Given the description of an element on the screen output the (x, y) to click on. 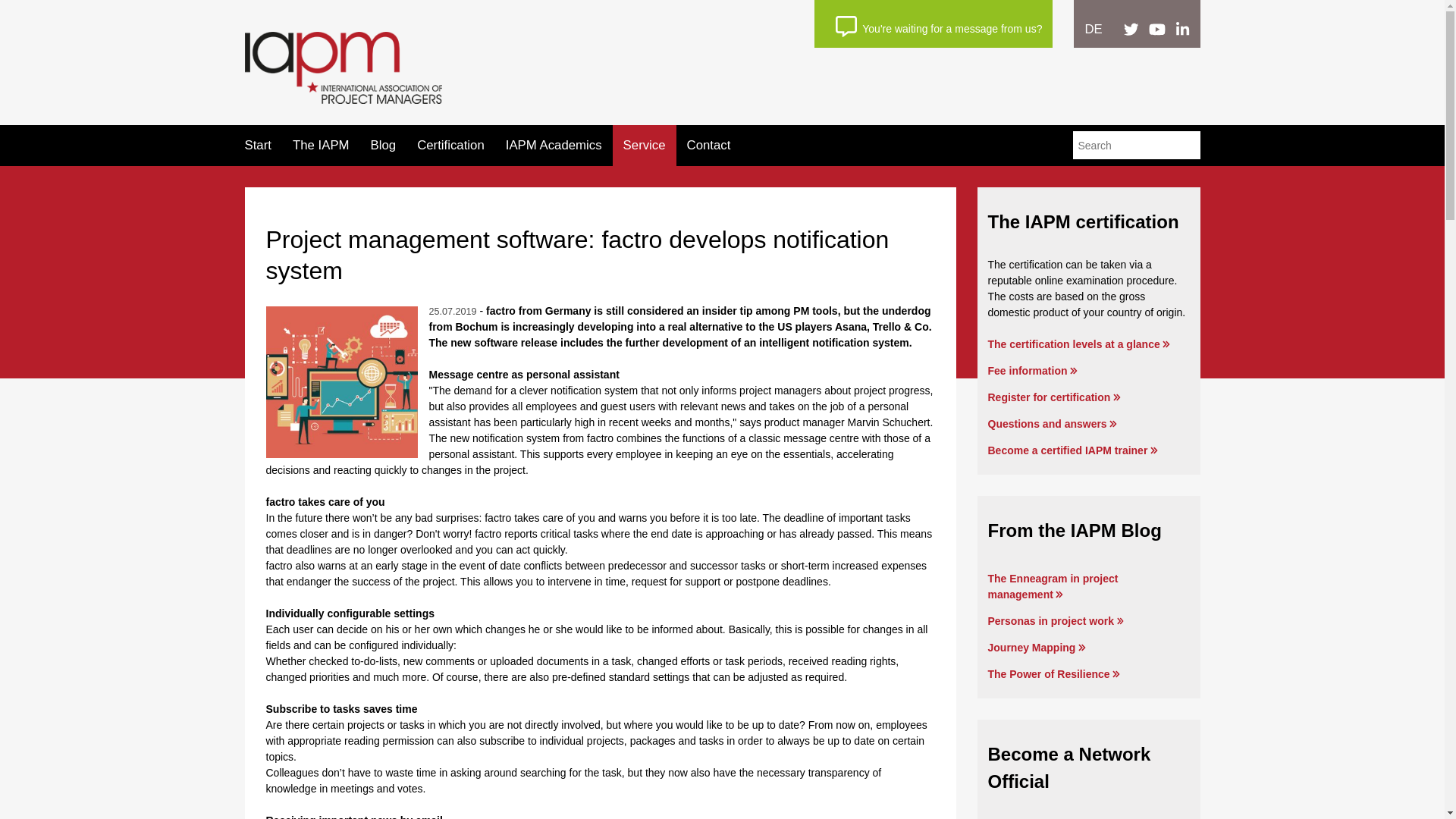
DE (1093, 29)
Certification (450, 145)
Blog (383, 145)
You're waiting for a message from us? (938, 25)
The IAPM (320, 145)
Start (257, 145)
IAPM Academics (553, 145)
